Given the description of an element on the screen output the (x, y) to click on. 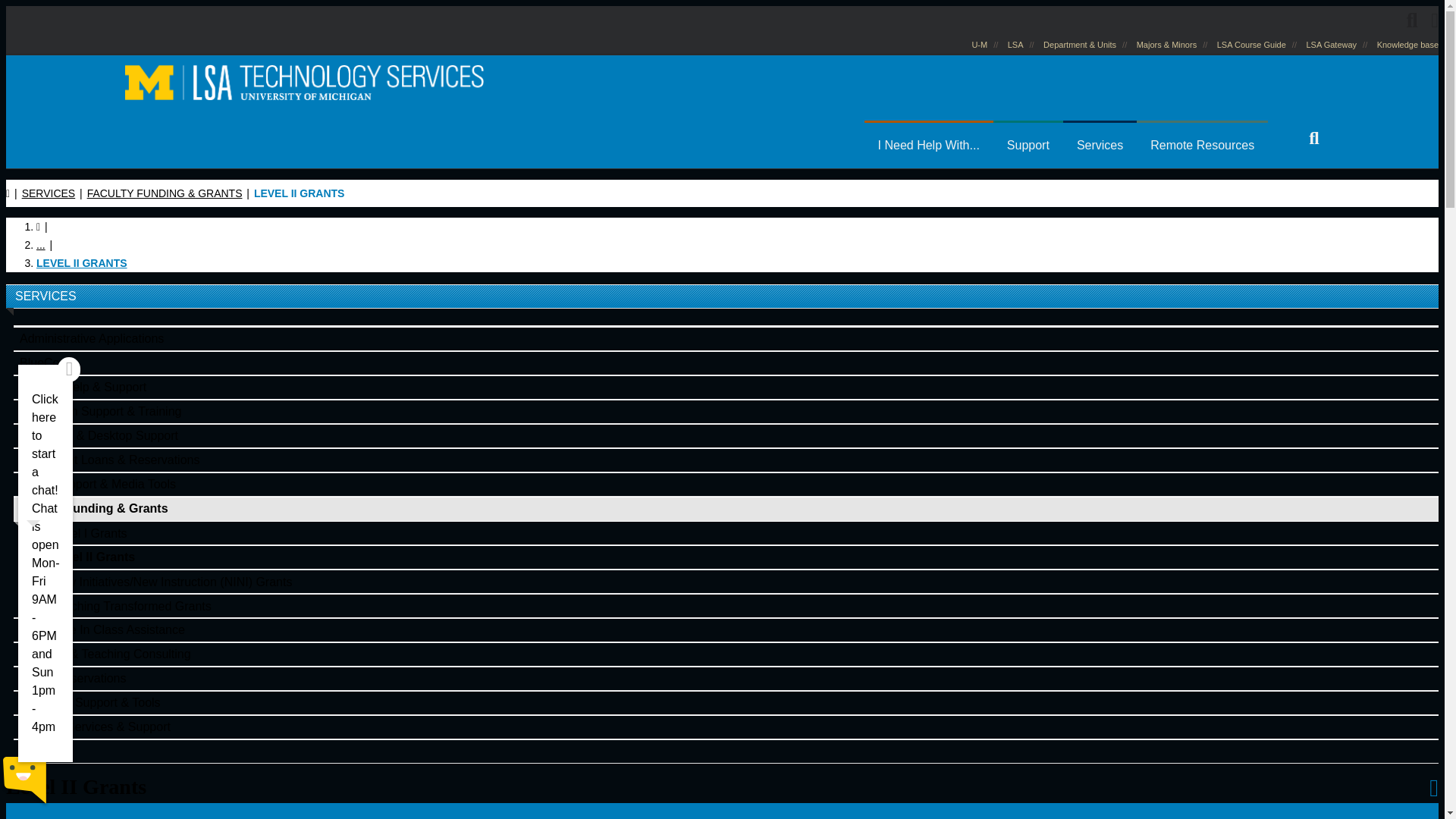
LSA Technology Services  (304, 80)
LSA (1015, 44)
LSA Course Guide (1251, 44)
LSA Gateway (1331, 44)
U-M (979, 44)
